Given the description of an element on the screen output the (x, y) to click on. 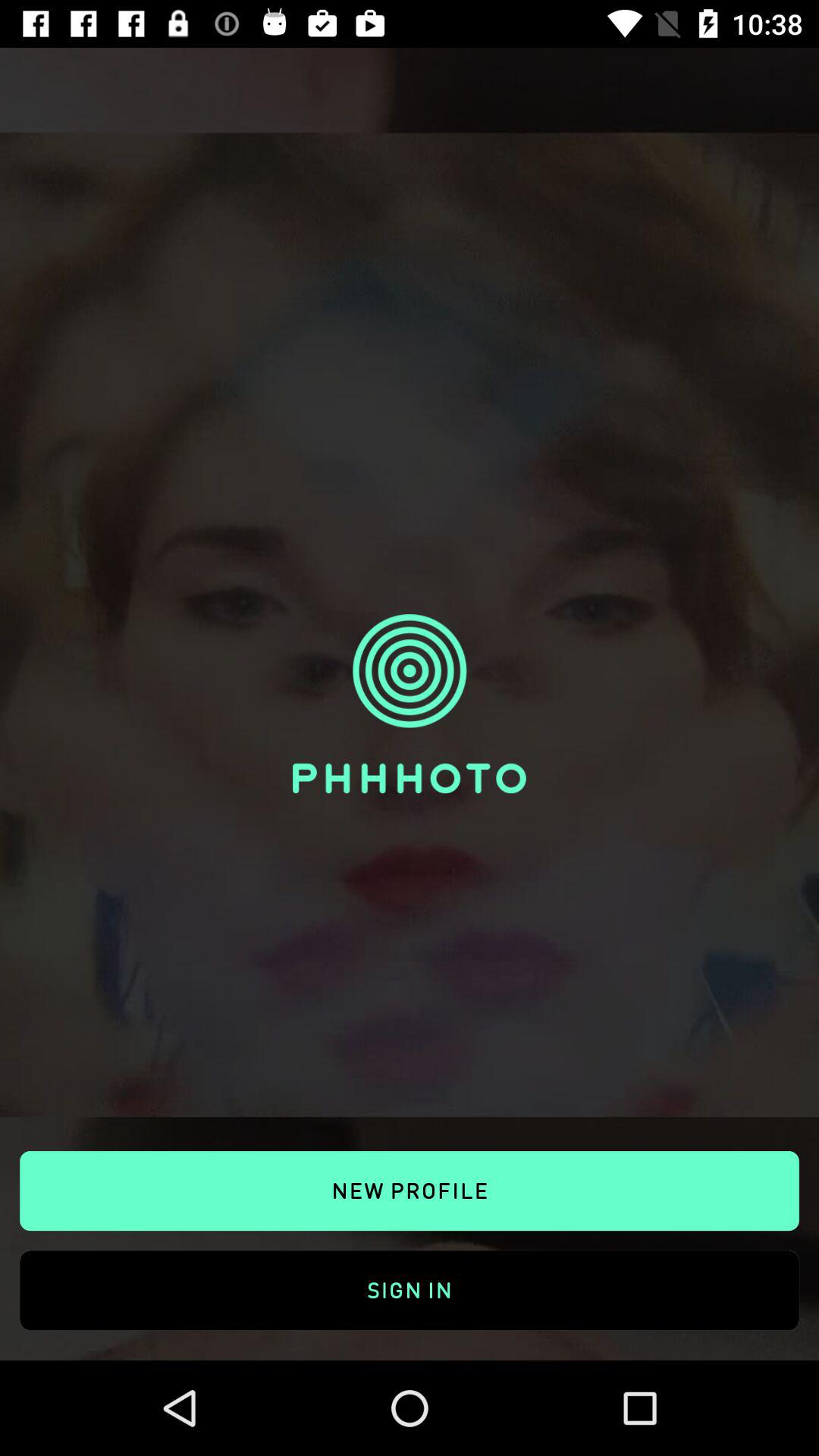
sign in (409, 1272)
